Given the description of an element on the screen output the (x, y) to click on. 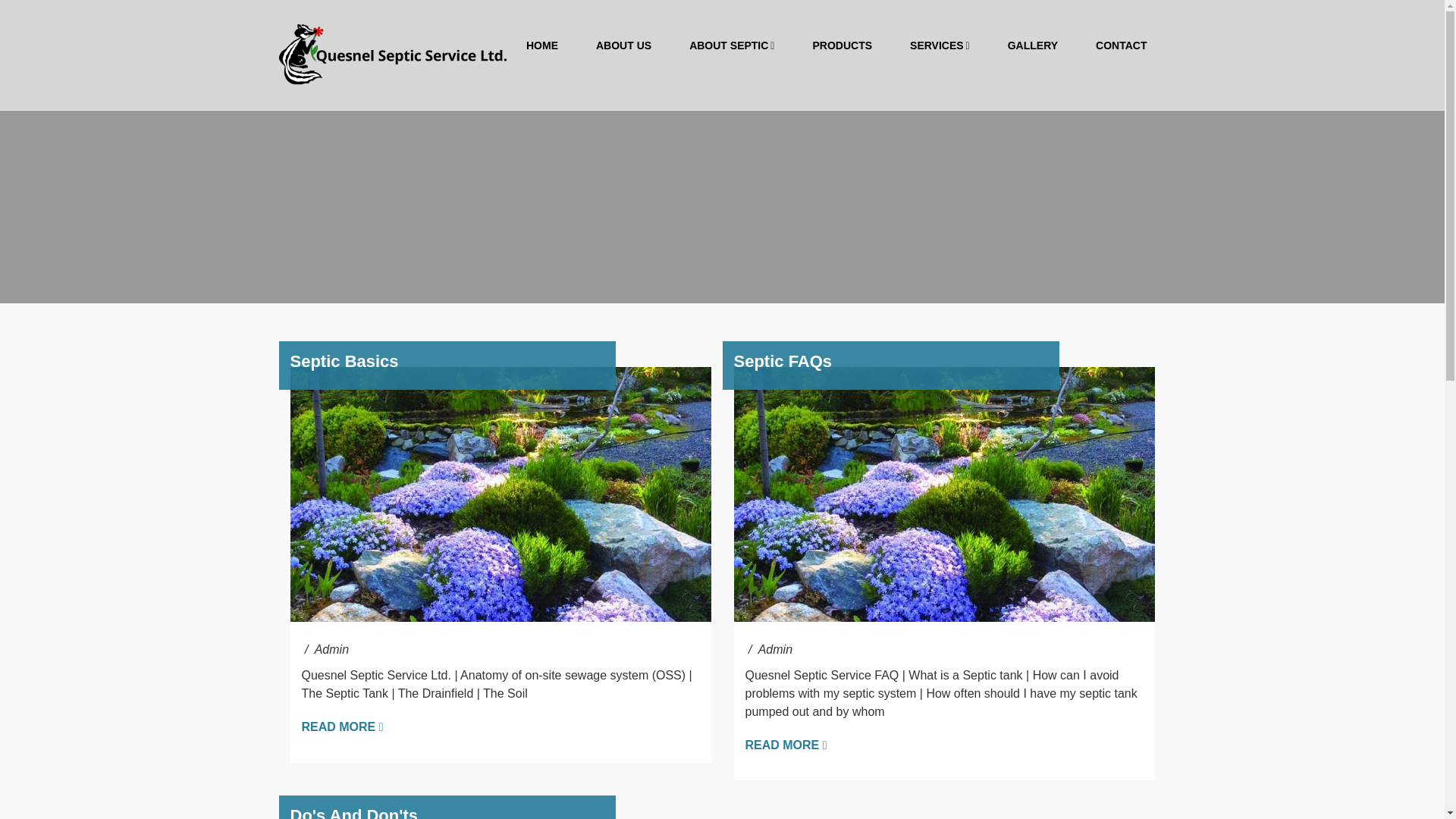
READ MORE (785, 744)
CONTACT (1121, 46)
Septic Basics (343, 361)
READ MORE (342, 726)
SERVICES (939, 46)
Do'S And Don'Ts (353, 812)
ABOUT US (622, 46)
HOME (541, 46)
Septic FAQs (782, 361)
ABOUT SEPTIC (731, 46)
PRODUCTS (842, 46)
GALLERY (1032, 46)
